Given the description of an element on the screen output the (x, y) to click on. 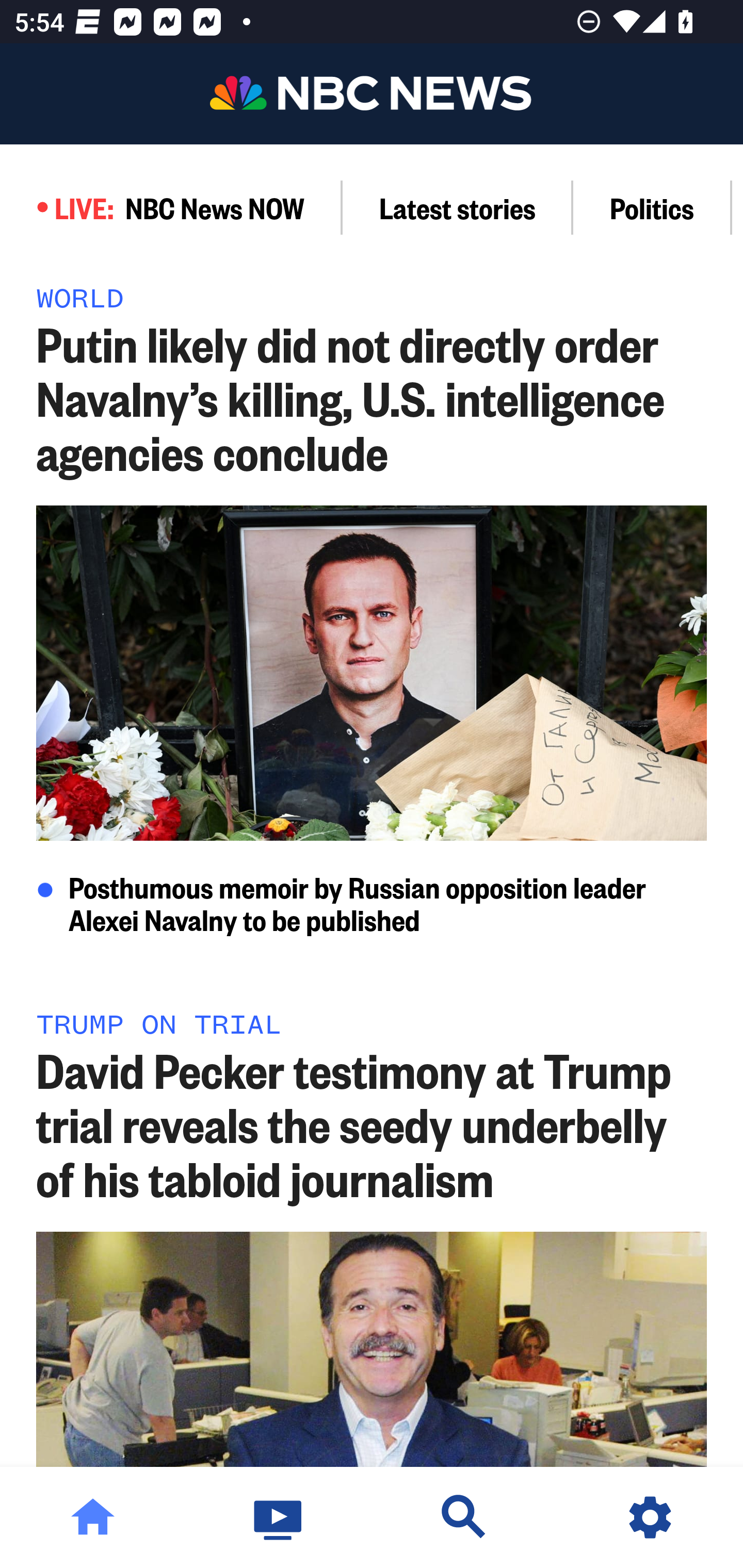
LIVE:  NBC News NOW (171, 207)
Latest stories Section,Latest stories (457, 207)
Politics Section,Politics (652, 207)
Watch (278, 1517)
Discover (464, 1517)
Settings (650, 1517)
